Given the description of an element on the screen output the (x, y) to click on. 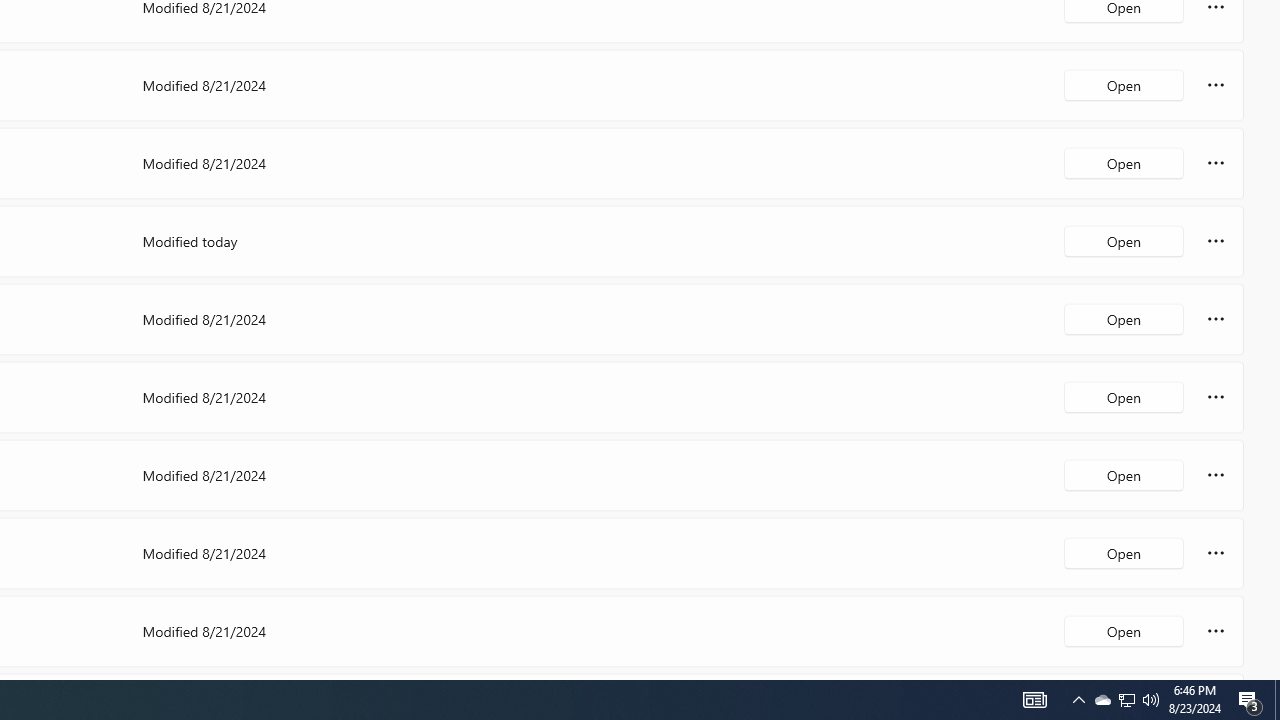
Vertical Small Increase (1272, 672)
Open (1123, 630)
More options (1215, 630)
